Given the description of an element on the screen output the (x, y) to click on. 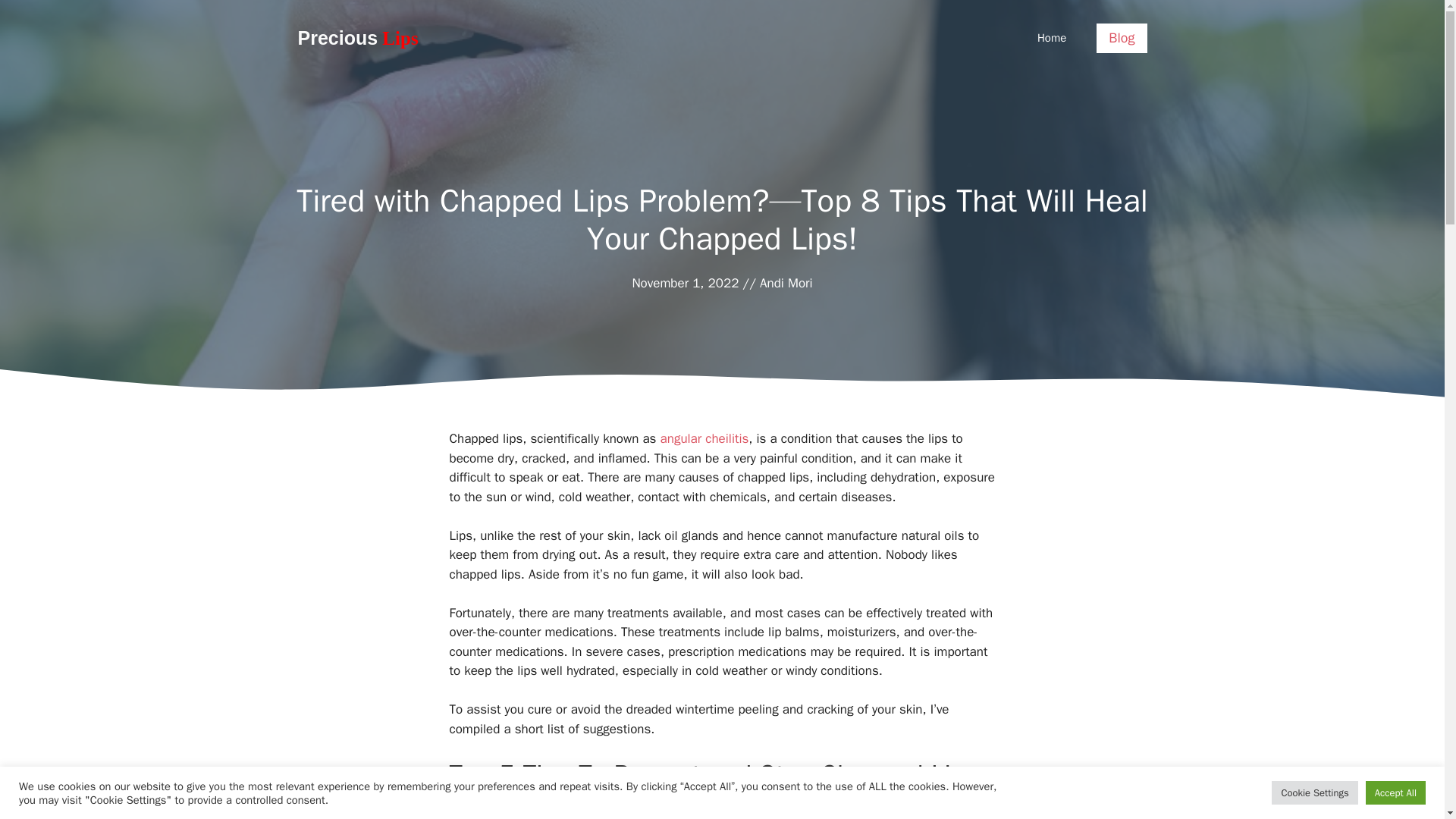
Cookie Settings (1313, 792)
Precious Lips (357, 37)
Andi Mori (786, 283)
Accept All (1395, 792)
Precious Lips (357, 37)
Home (1051, 37)
Blog (1121, 37)
